Given the description of an element on the screen output the (x, y) to click on. 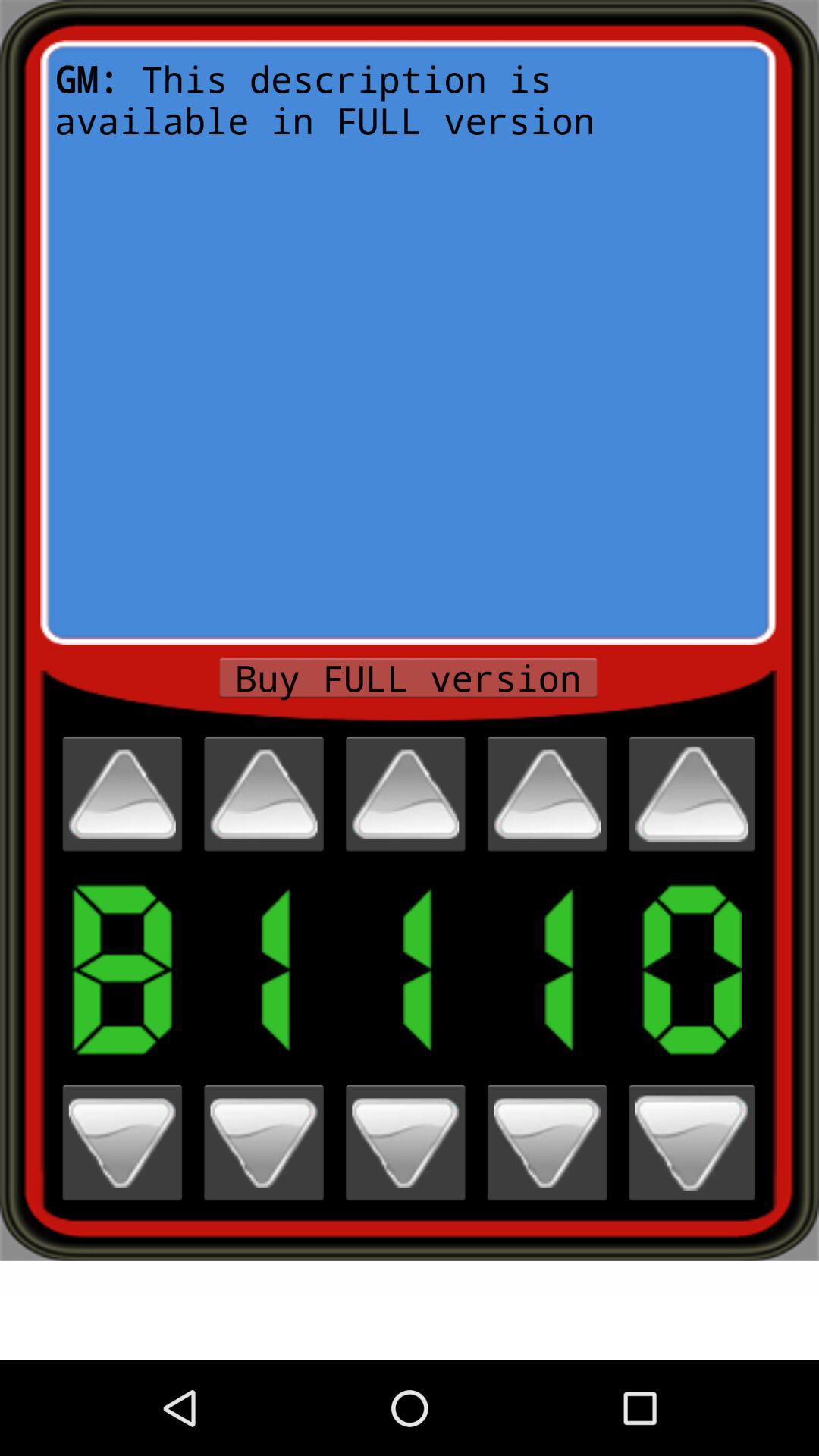
press icon at the top (408, 342)
